Given the description of an element on the screen output the (x, y) to click on. 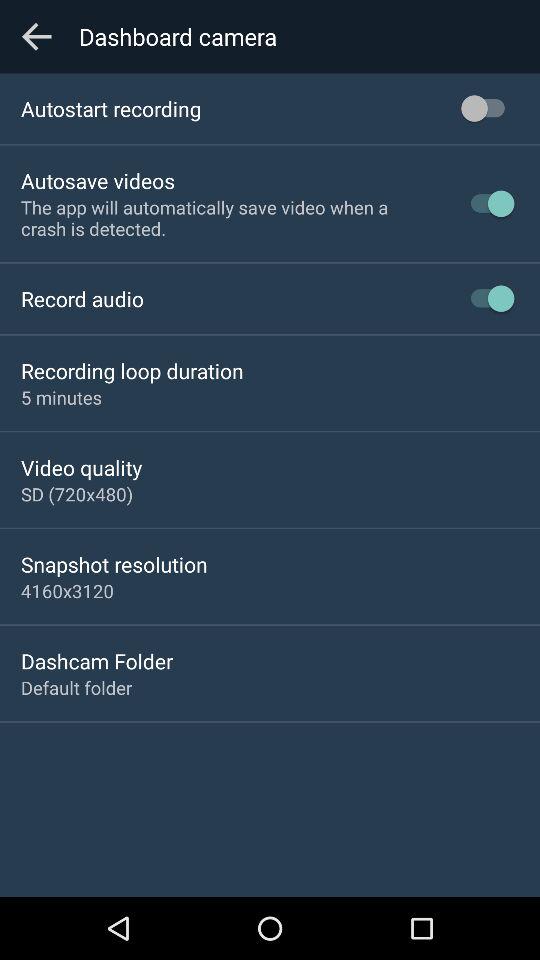
tap the item above autostart recording icon (36, 36)
